Given the description of an element on the screen output the (x, y) to click on. 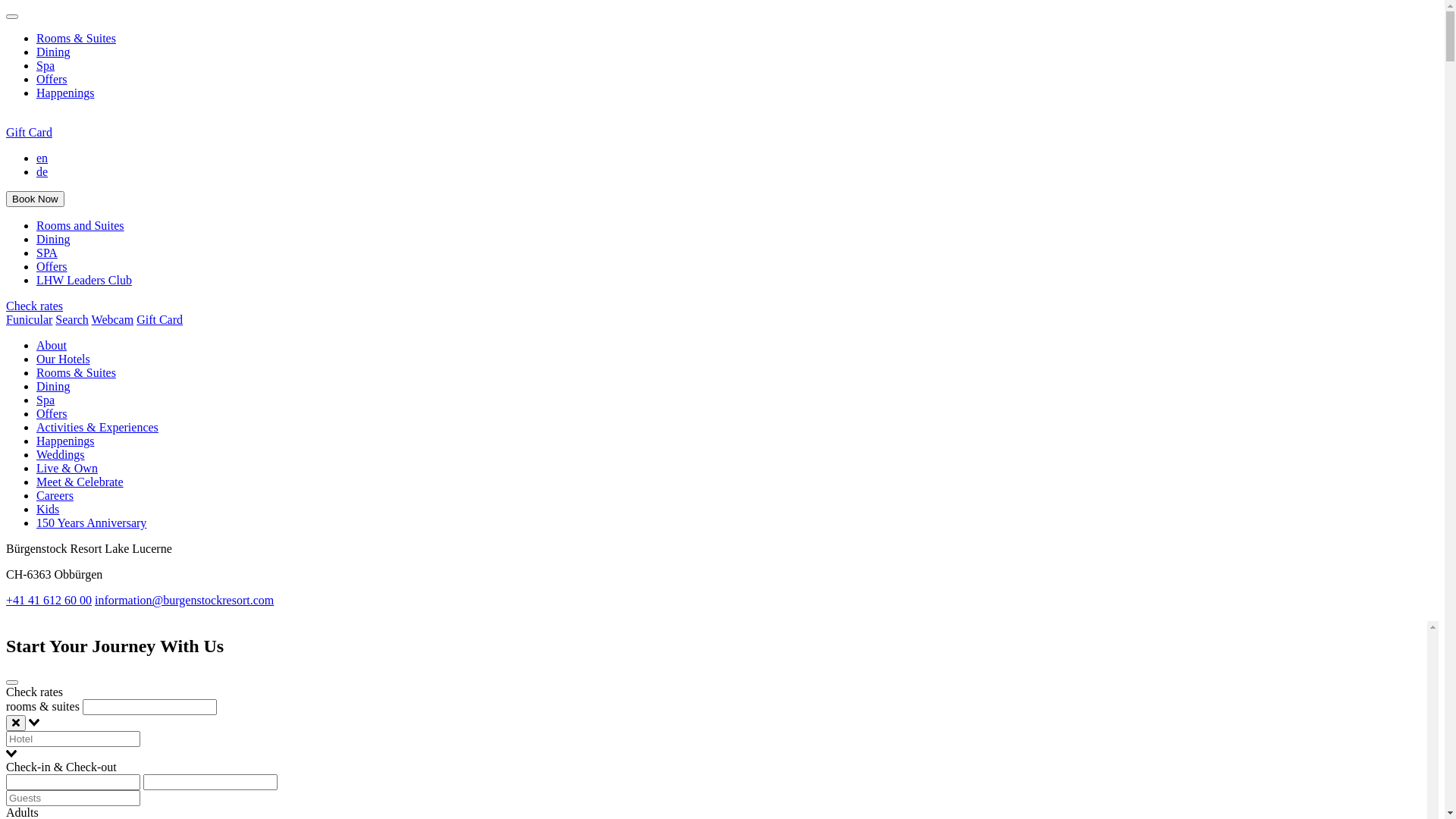
+41 41 612 60 00 Element type: text (48, 599)
150 Years Anniversary Element type: text (91, 522)
en Element type: text (41, 157)
de Element type: text (41, 171)
Funicular Element type: text (29, 319)
Kids Element type: text (47, 508)
Dining Element type: text (52, 385)
Book Now Element type: text (35, 199)
About Element type: text (51, 344)
Our Hotels Element type: text (63, 358)
Offers Element type: text (51, 413)
Rooms & Suites Element type: text (76, 372)
Happenings Element type: text (65, 440)
information@burgenstockresort.com Element type: text (183, 599)
Gift Card Element type: text (159, 319)
Rooms & Suites Element type: text (76, 37)
Rooms and Suites Element type: text (80, 225)
Careers Element type: text (54, 495)
Clear Selected Element type: hover (15, 723)
Offers Element type: text (51, 266)
Spa Element type: text (45, 65)
SPA Element type: text (46, 252)
Happenings Element type: text (65, 92)
Meet & Celebrate Element type: text (79, 481)
Offers Element type: text (51, 78)
Webcam Element type: text (112, 319)
Check rates Element type: text (34, 305)
Activities & Experiences Element type: text (97, 426)
Gift Card Element type: text (29, 131)
Search Element type: text (71, 319)
Dining Element type: text (52, 51)
LHW Leaders Club Element type: text (83, 279)
Spa Element type: text (45, 399)
Live & Own Element type: text (66, 467)
Dining Element type: text (52, 238)
Weddings Element type: text (60, 454)
